Given the description of an element on the screen output the (x, y) to click on. 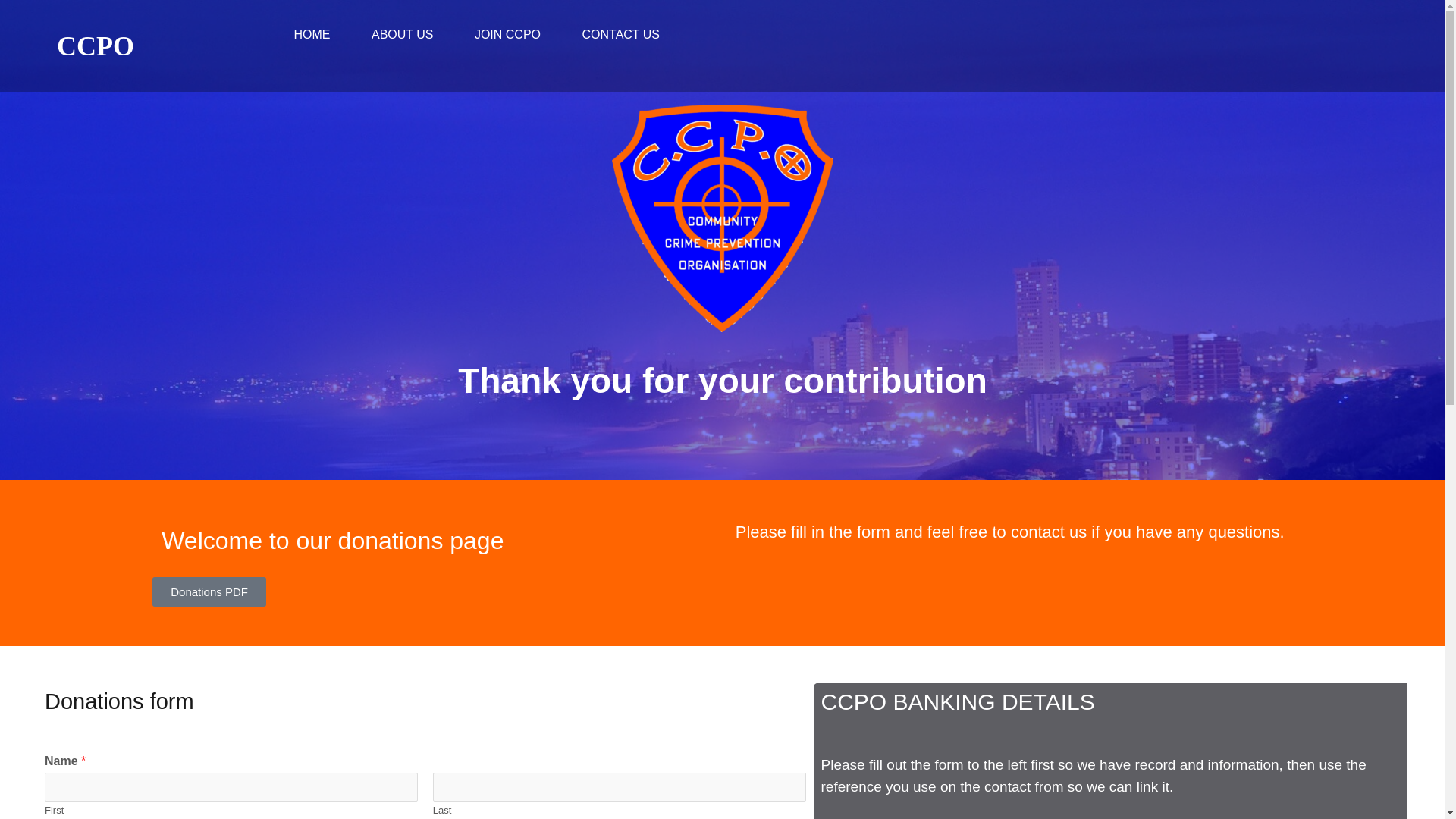
HOME (312, 34)
JOIN CCPO (507, 34)
ABOUT US (402, 34)
Donations PDF (209, 591)
CCPO (94, 46)
CONTACT US (619, 34)
